Given the description of an element on the screen output the (x, y) to click on. 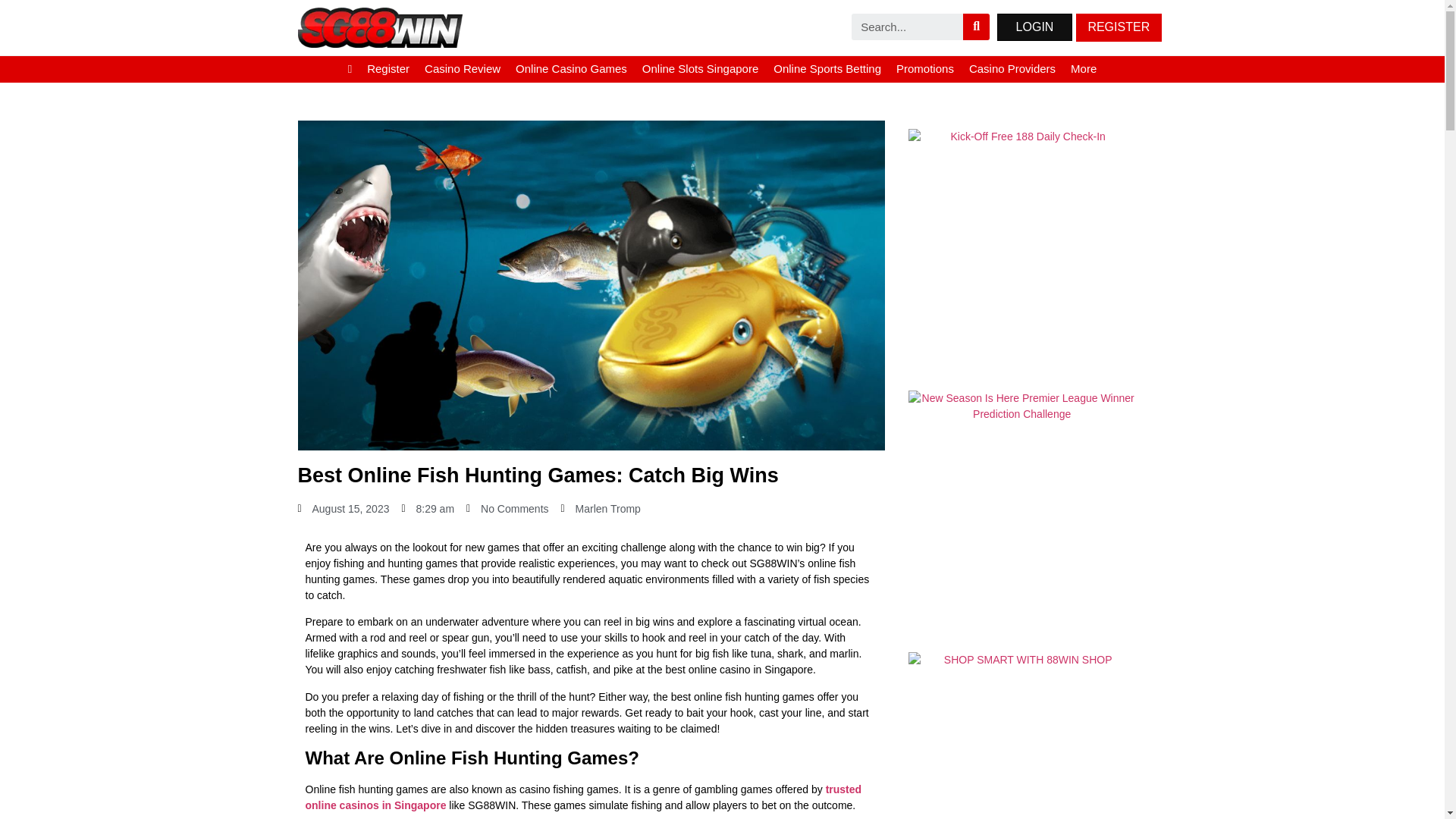
Online Slots Singapore (699, 69)
LOGIN (1034, 27)
Casino Review (462, 69)
Online Casino Games (571, 69)
Promotions (924, 69)
Online Sports Betting (826, 69)
Search (976, 26)
Register (387, 69)
Casino Providers (1011, 69)
Search (906, 26)
